Given the description of an element on the screen output the (x, y) to click on. 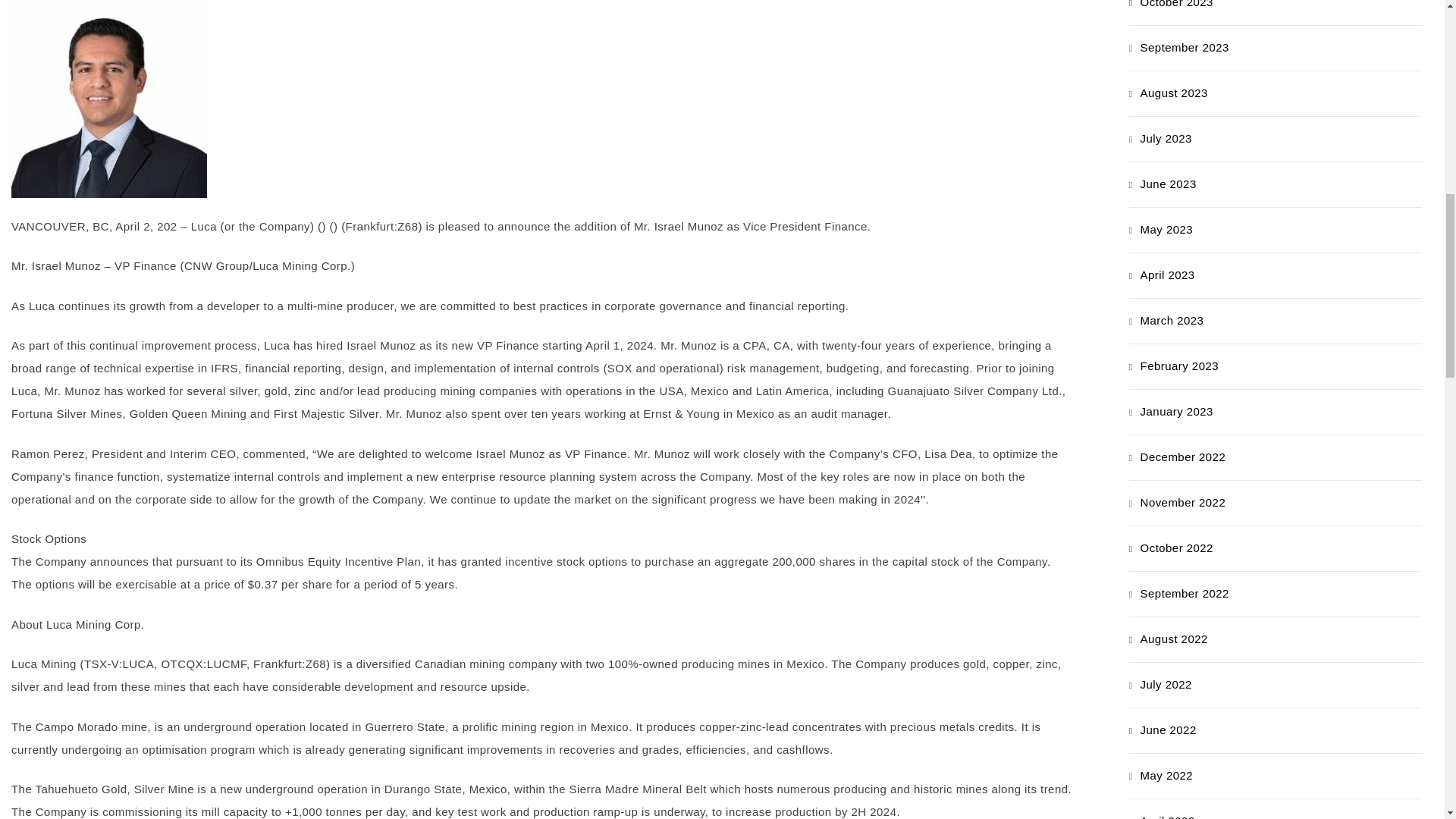
August 2023 (1174, 92)
January 2023 (1176, 410)
June 2022 (1168, 729)
March 2023 (1172, 319)
October 2023 (1176, 4)
August 2022 (1174, 638)
May 2023 (1166, 228)
June 2023 (1168, 183)
September 2022 (1184, 593)
September 2023 (1184, 47)
November 2022 (1182, 502)
April 2023 (1167, 274)
October 2022 (1176, 547)
December 2022 (1182, 456)
July 2023 (1166, 137)
